Given the description of an element on the screen output the (x, y) to click on. 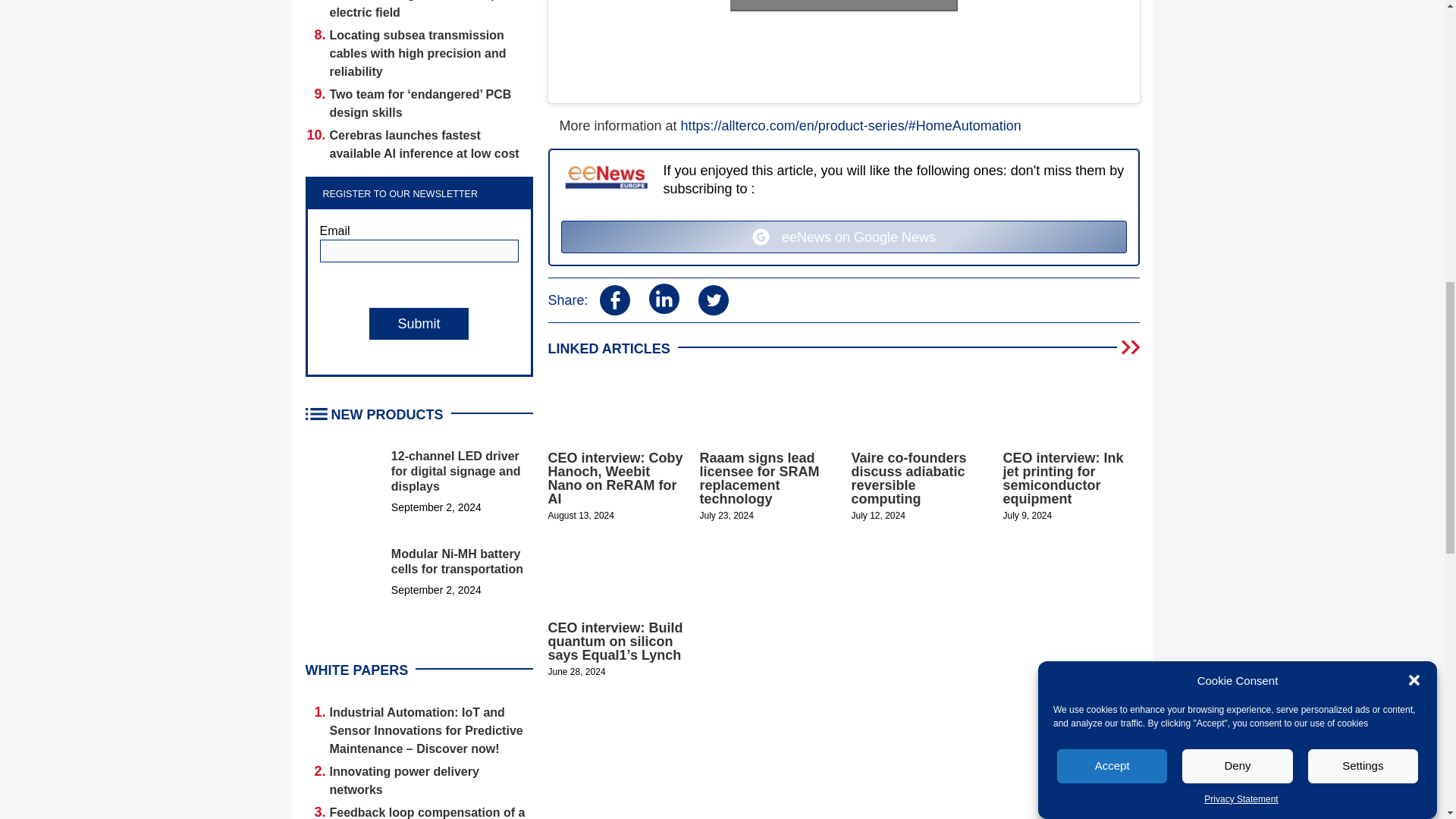
Settings (1362, 204)
Deny (1237, 220)
Privacy Statement (1241, 109)
Submit (418, 323)
Accept (1112, 279)
